Given the description of an element on the screen output the (x, y) to click on. 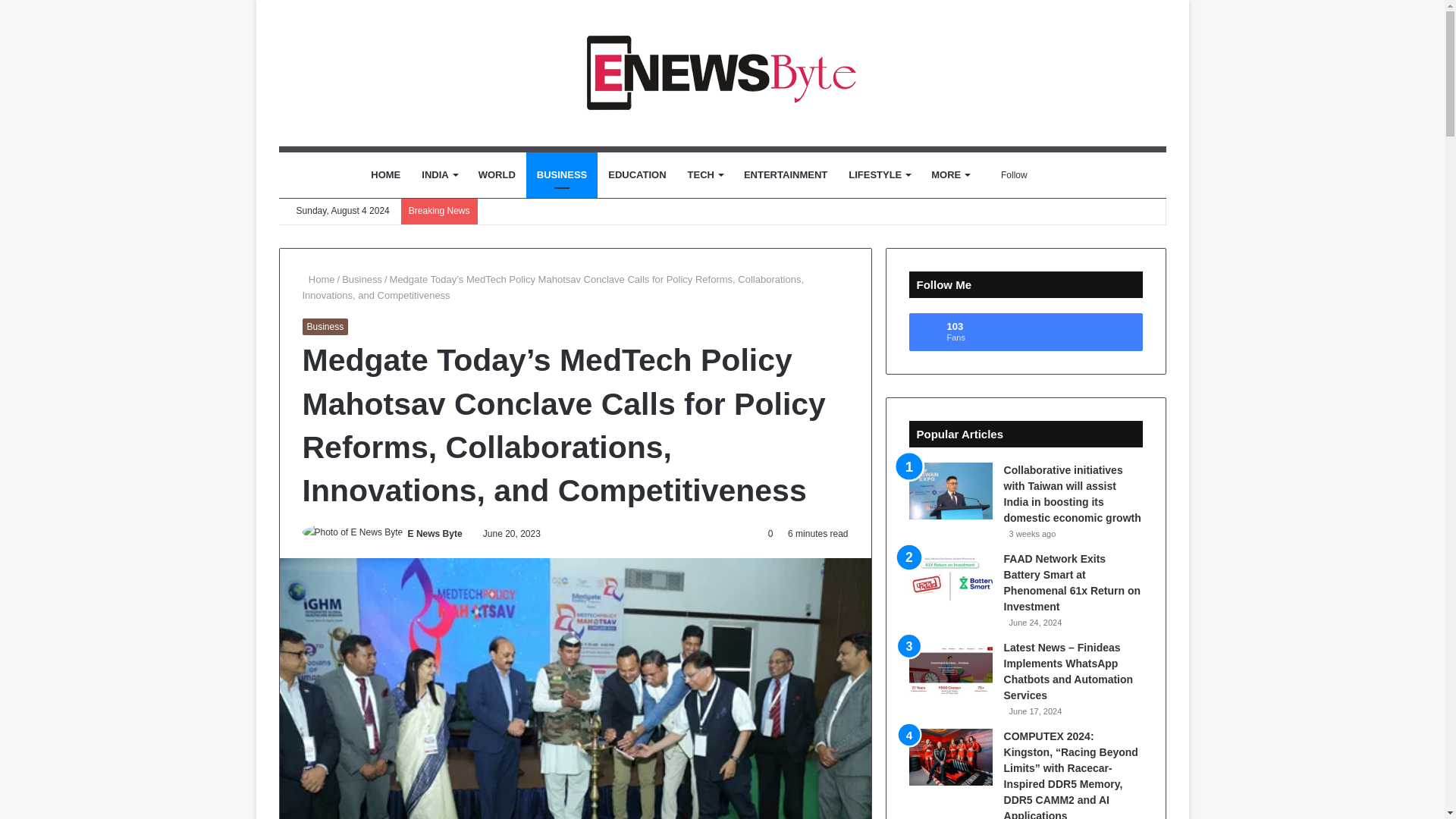
ENTERTAINMENT (785, 175)
EDUCATION (636, 175)
E News Byte (721, 72)
BUSINESS (560, 175)
LIFESTYLE (879, 175)
E News Byte (435, 533)
WORLD (496, 175)
INDIA (438, 175)
Follow (1008, 175)
TECH (705, 175)
MORE (949, 175)
HOME (384, 175)
